Given the description of an element on the screen output the (x, y) to click on. 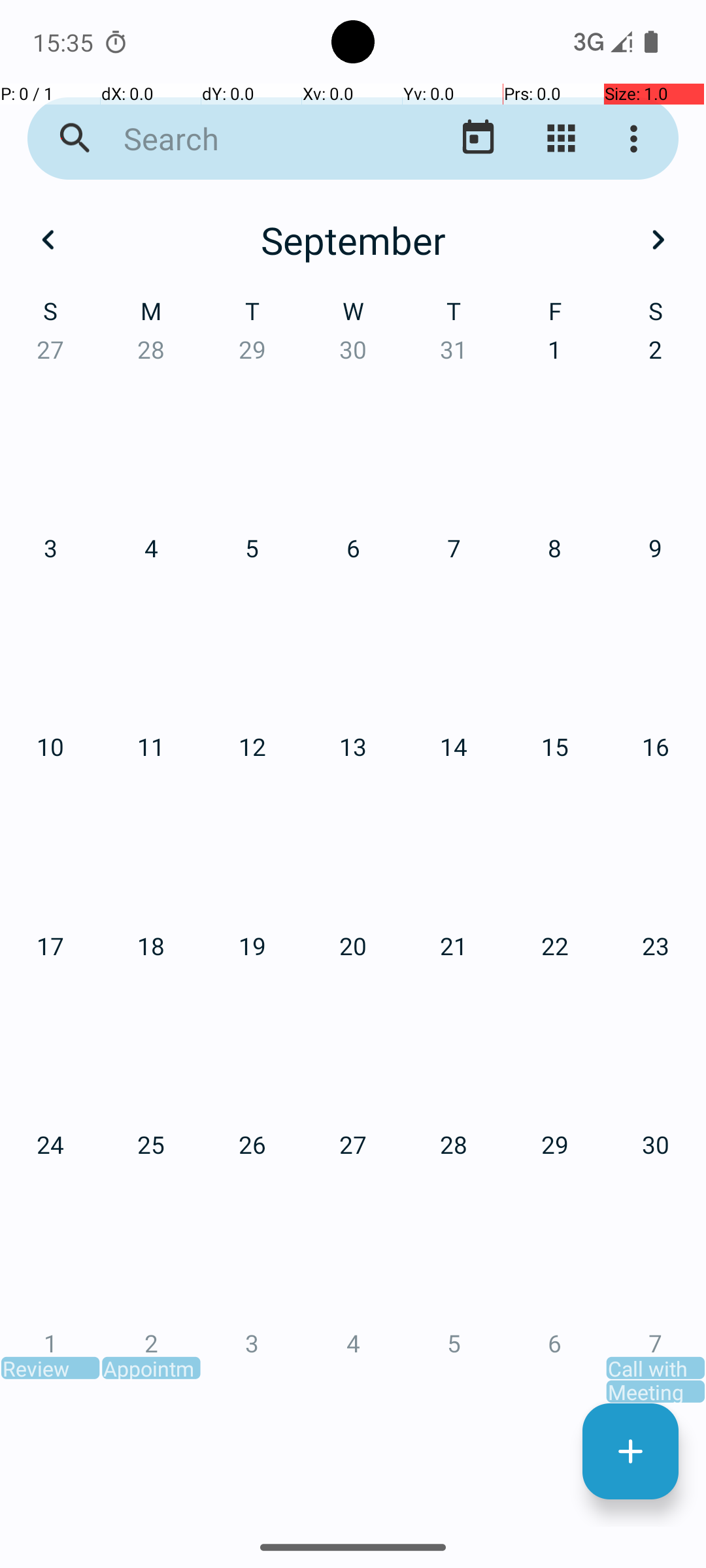
September Element type: android.widget.TextView (352, 239)
